Given the description of an element on the screen output the (x, y) to click on. 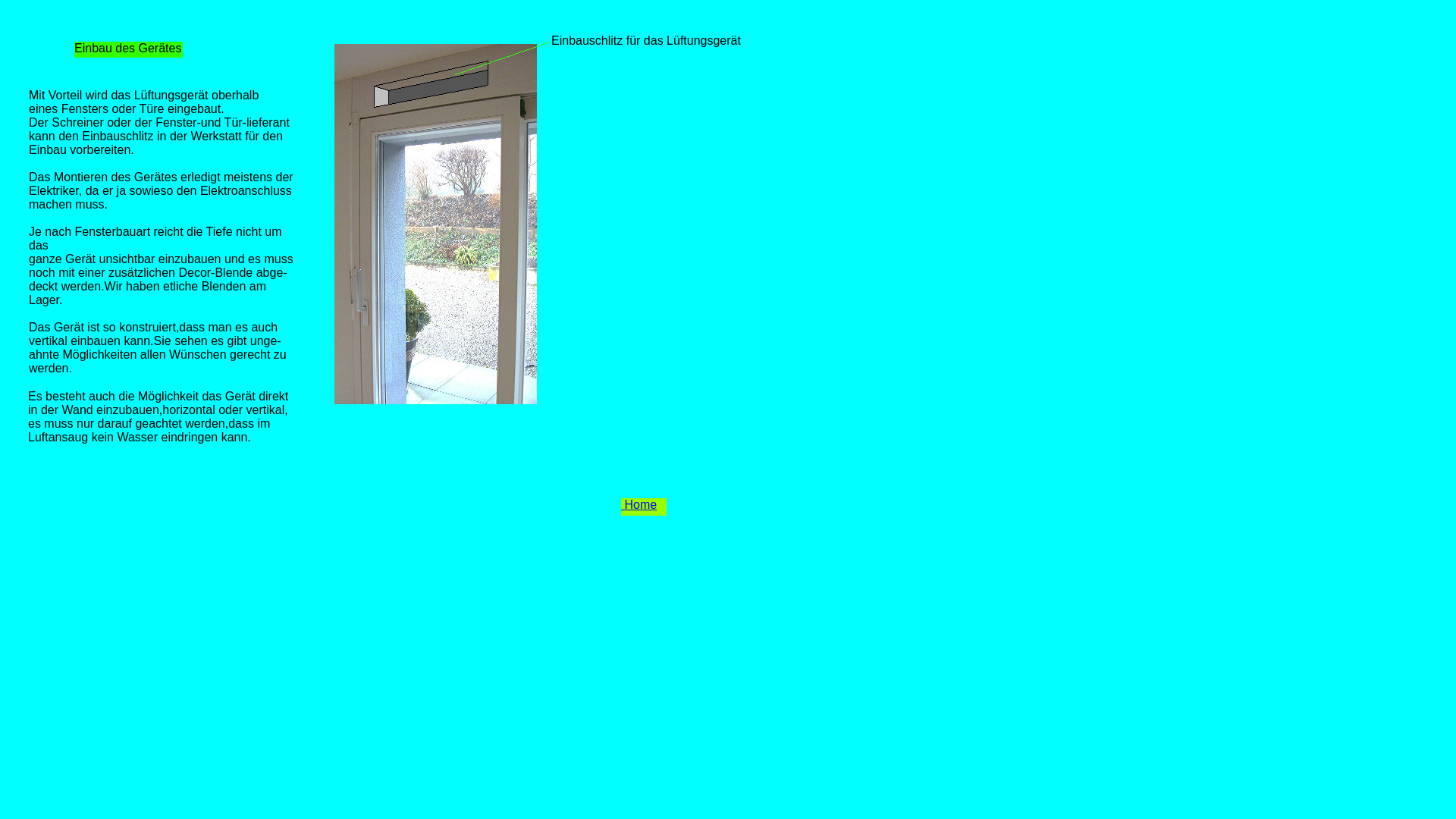
 Home Element type: text (638, 504)
